Given the description of an element on the screen output the (x, y) to click on. 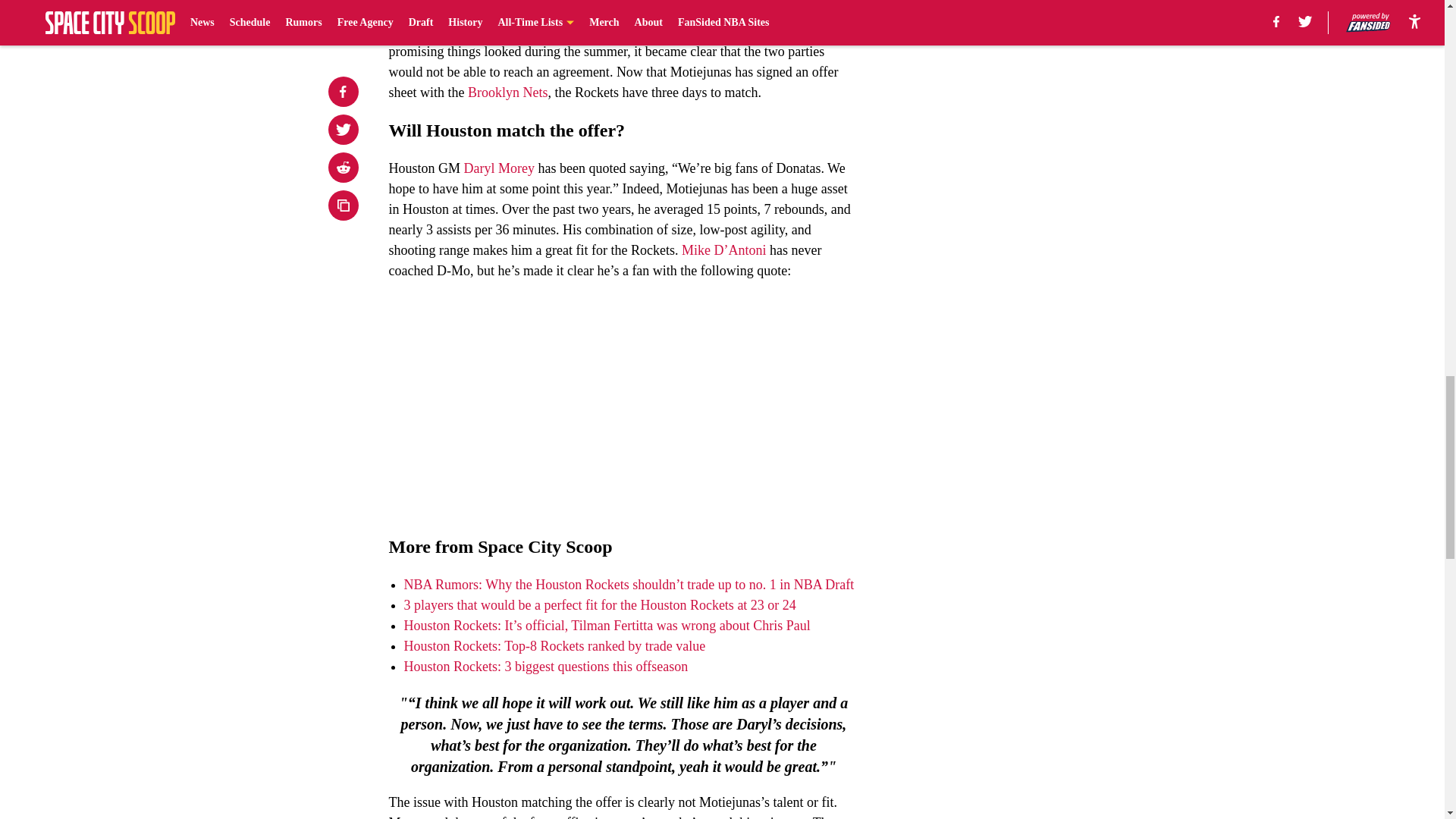
Daryl Morey (499, 168)
Brooklyn Nets (507, 92)
Houston Rockets: 3 biggest questions this offseason  (546, 666)
Houston Rockets: Top-8 Rockets ranked by trade value (553, 645)
